Given the description of an element on the screen output the (x, y) to click on. 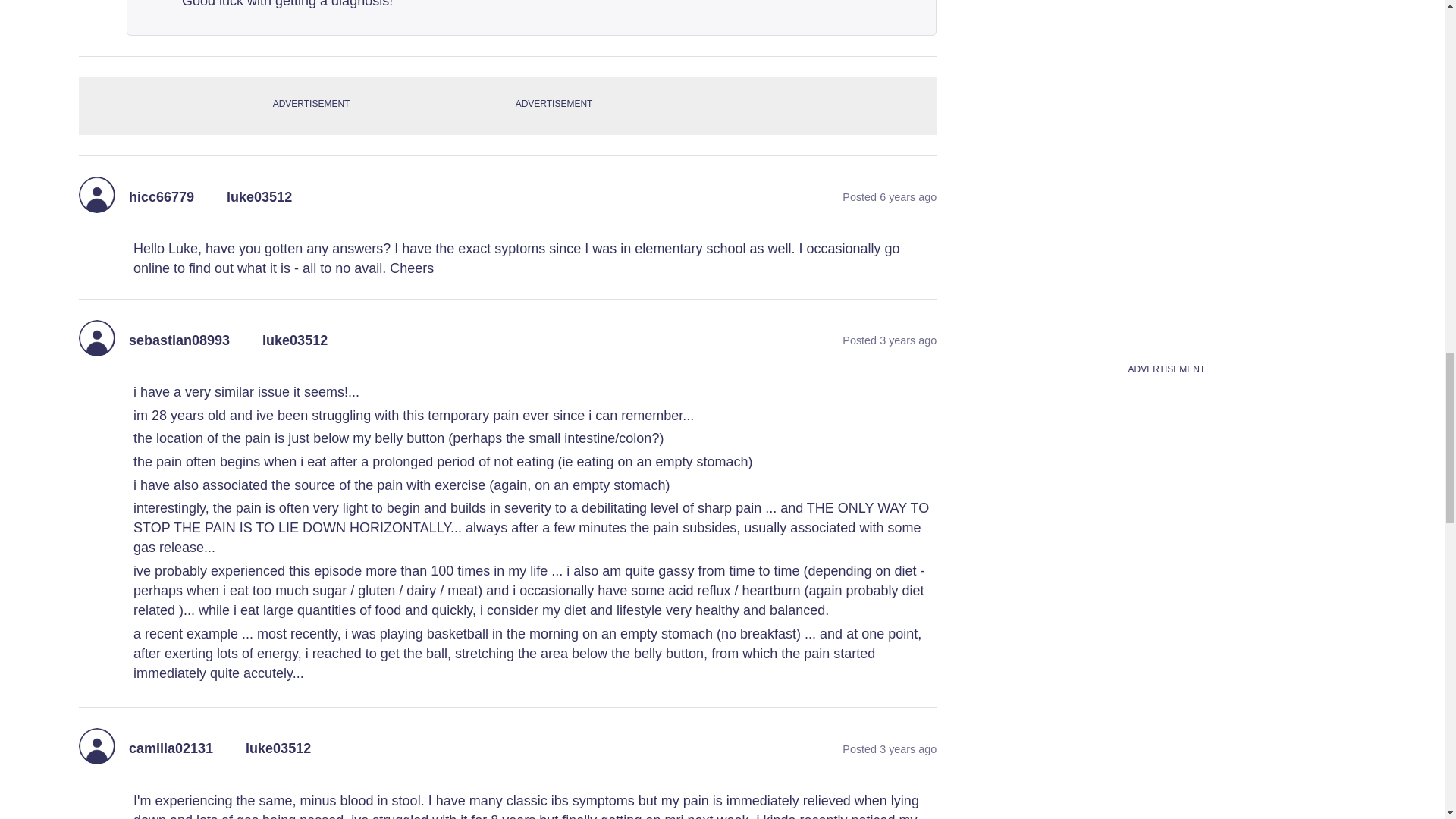
luke03512 (259, 197)
View hicc66779's profile (161, 197)
hicc66779 (161, 197)
sebastian08993 (179, 340)
View camilla02131's profile (170, 749)
View sebastian08993's profile (179, 340)
luke03512 (294, 340)
camilla02131 (170, 749)
luke03512 (278, 749)
